Given the description of an element on the screen output the (x, y) to click on. 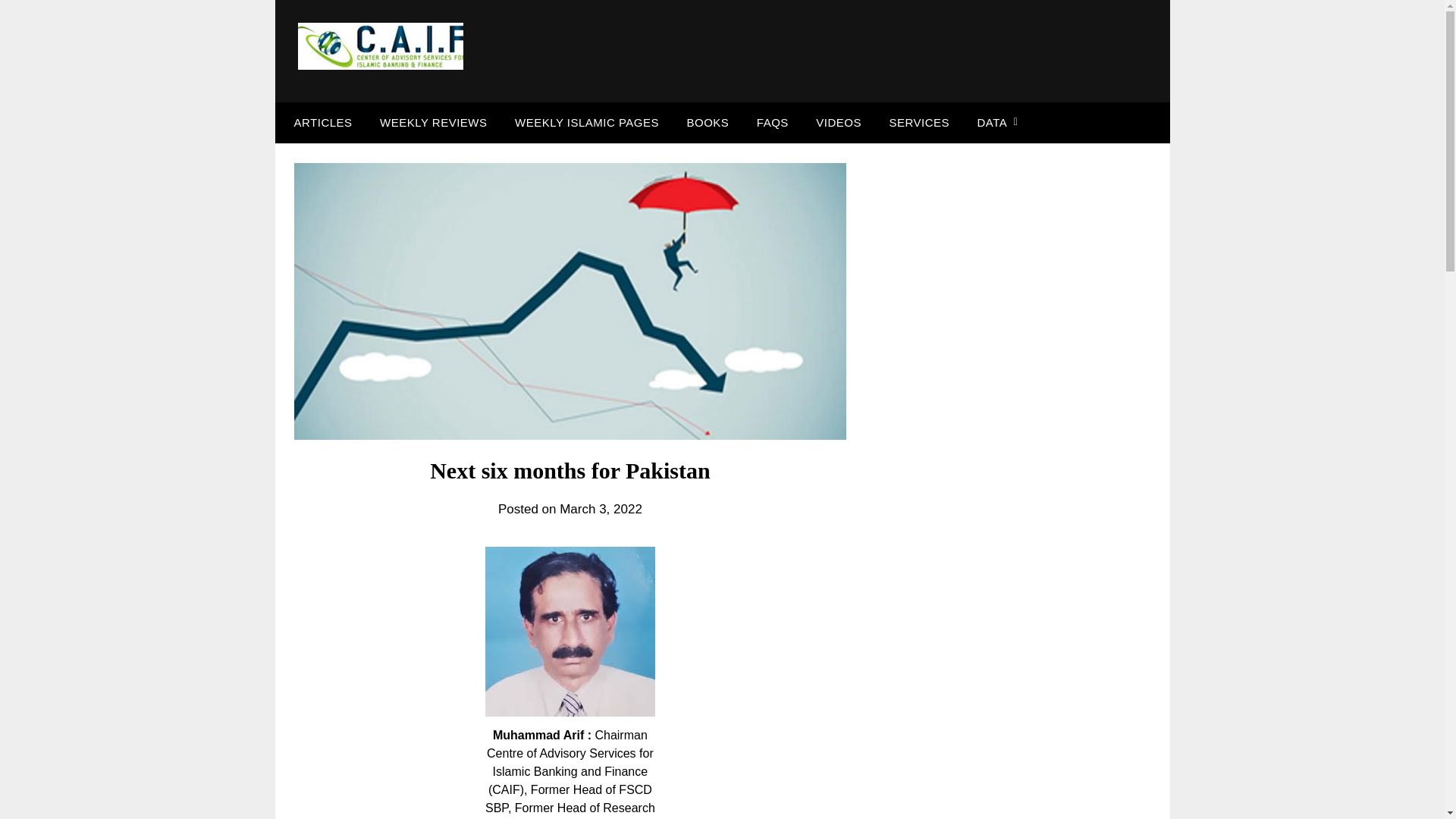
WEEKLY ISLAMIC PAGES (586, 122)
VIDEOS (838, 122)
ARTICLES (319, 122)
DATA (991, 122)
SERVICES (918, 122)
FAQS (772, 122)
BOOKS (708, 122)
WEEKLY REVIEWS (433, 122)
